Given the description of an element on the screen output the (x, y) to click on. 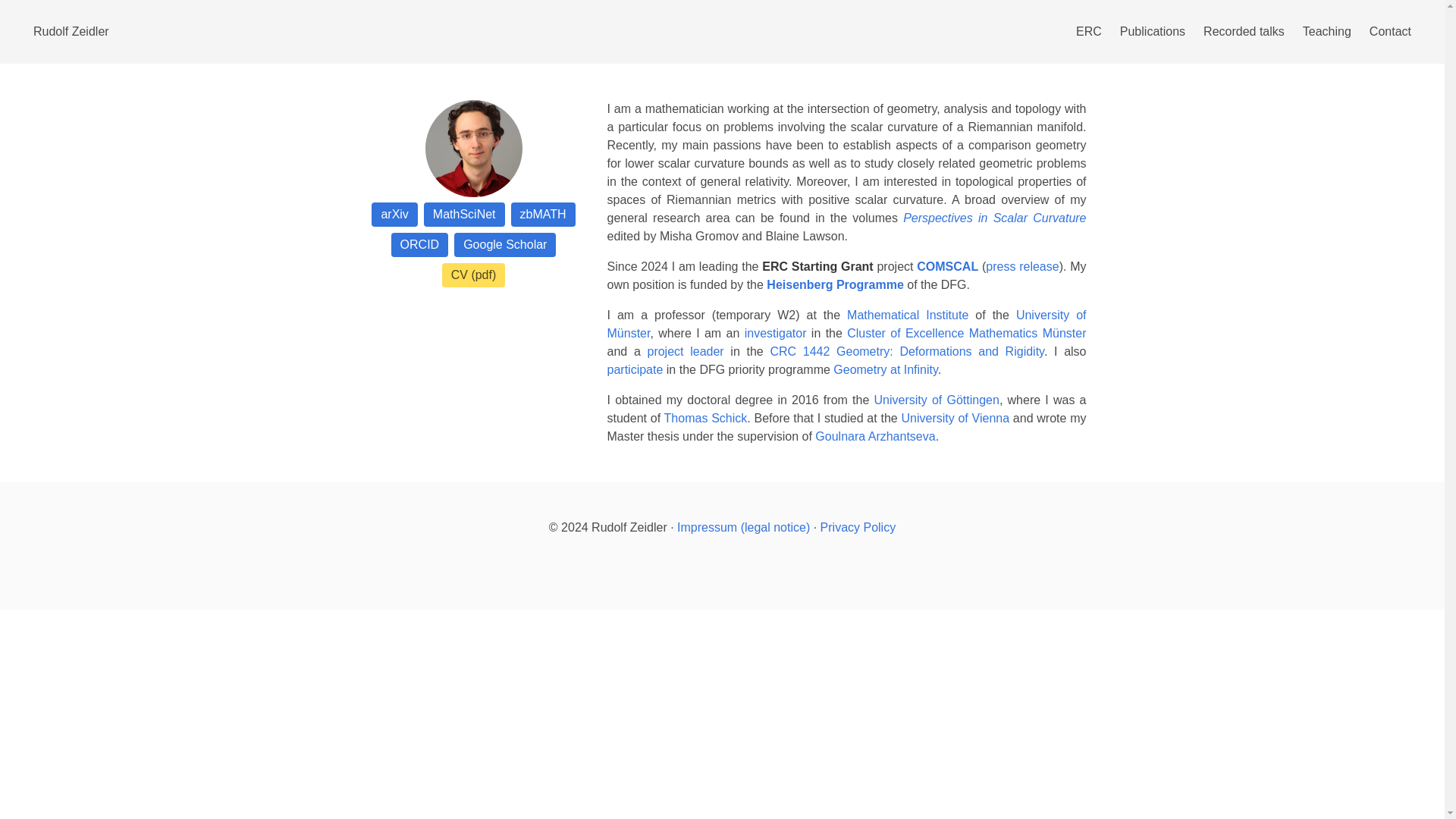
ORCID (419, 244)
Teaching (1326, 31)
Rudolf Zeidler (70, 31)
COMSCAL (947, 266)
Goulnara Arzhantseva (874, 436)
Recorded talks (1243, 31)
CRC 1442 Geometry: Deformations and Rigidity (906, 350)
MathSciNet (464, 214)
Privacy Policy  (858, 526)
investigator (775, 332)
